Given the description of an element on the screen output the (x, y) to click on. 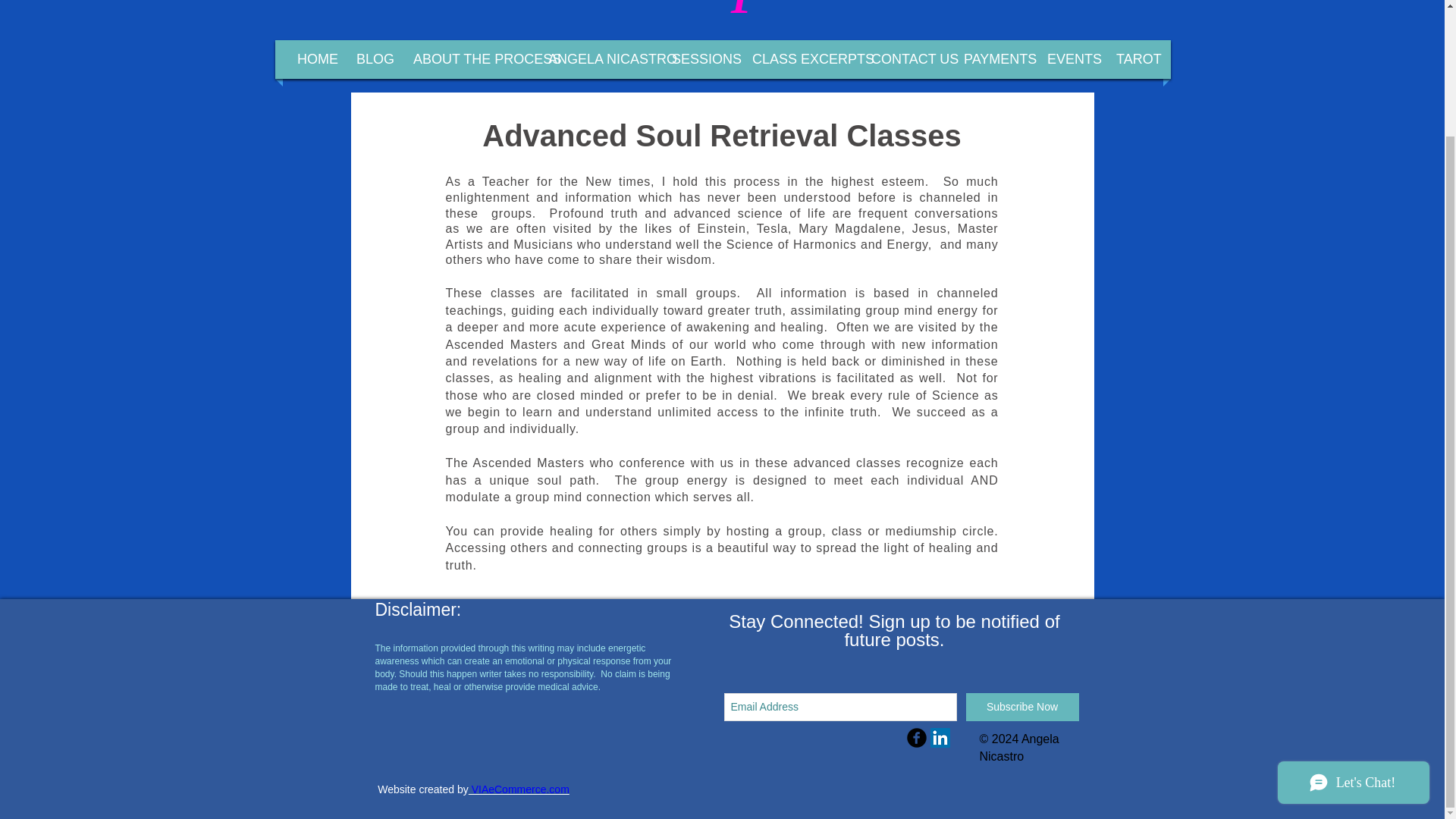
TAROT (1131, 59)
Subscribe Now (1022, 706)
HOME (311, 59)
CONTACT US (902, 59)
 VIAeCommerce.com (518, 788)
ABOUT THE PROCESS (465, 59)
CLASS EXCERPTS (796, 59)
ANGELA NICASTRO (594, 59)
EVENTS (1066, 59)
PAYMENTS (989, 59)
